Given the description of an element on the screen output the (x, y) to click on. 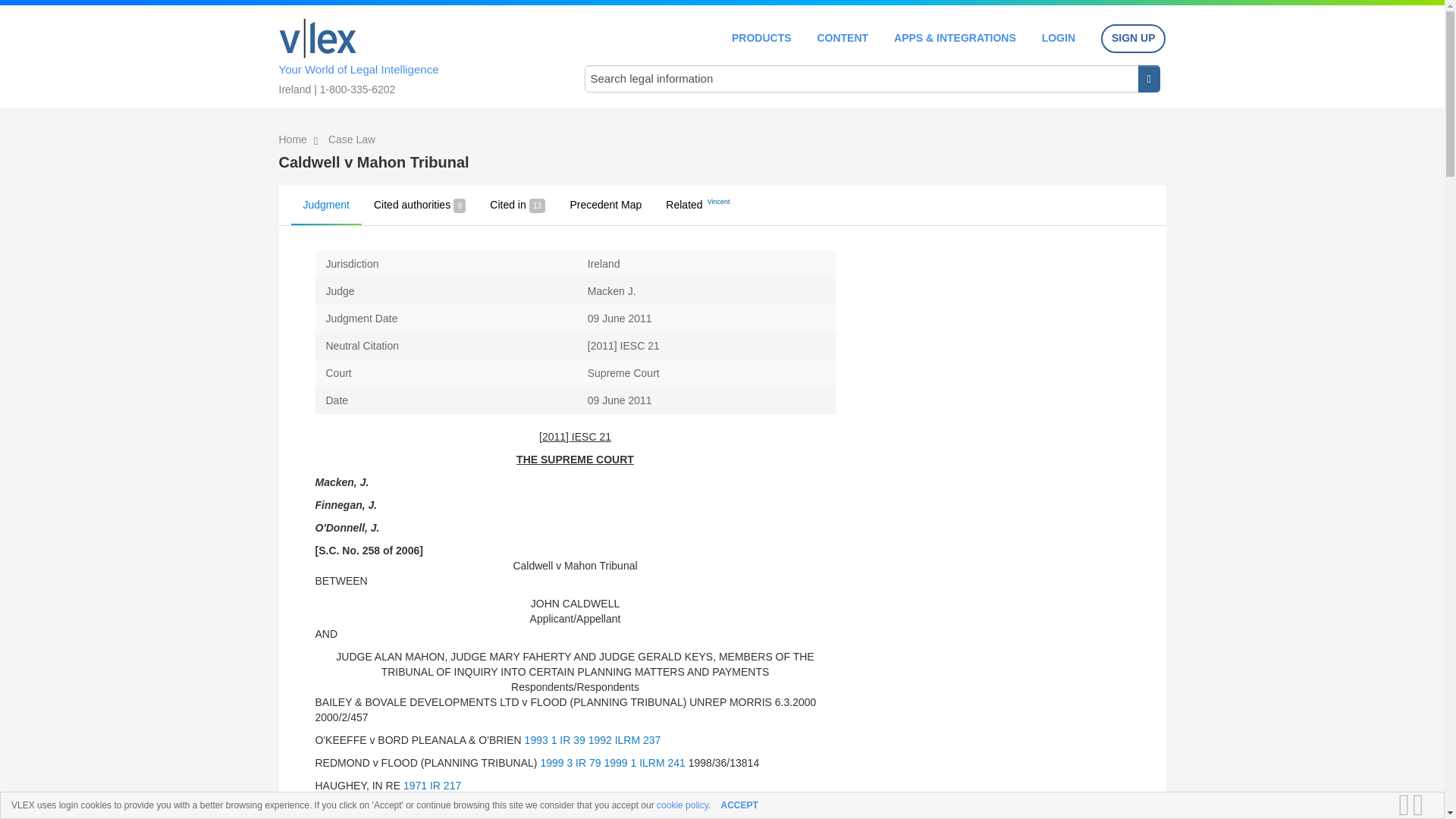
Case Law (352, 139)
1999 1 ILRM 241 (644, 762)
LOGIN (1058, 37)
1993 1 IR 39 (554, 739)
CONTENT (841, 37)
SIGN UP (1133, 38)
1971 IR 217 (432, 785)
1999 3 IR 79 (569, 762)
Home (294, 139)
1999 3 IR 1 (565, 808)
